Given the description of an element on the screen output the (x, y) to click on. 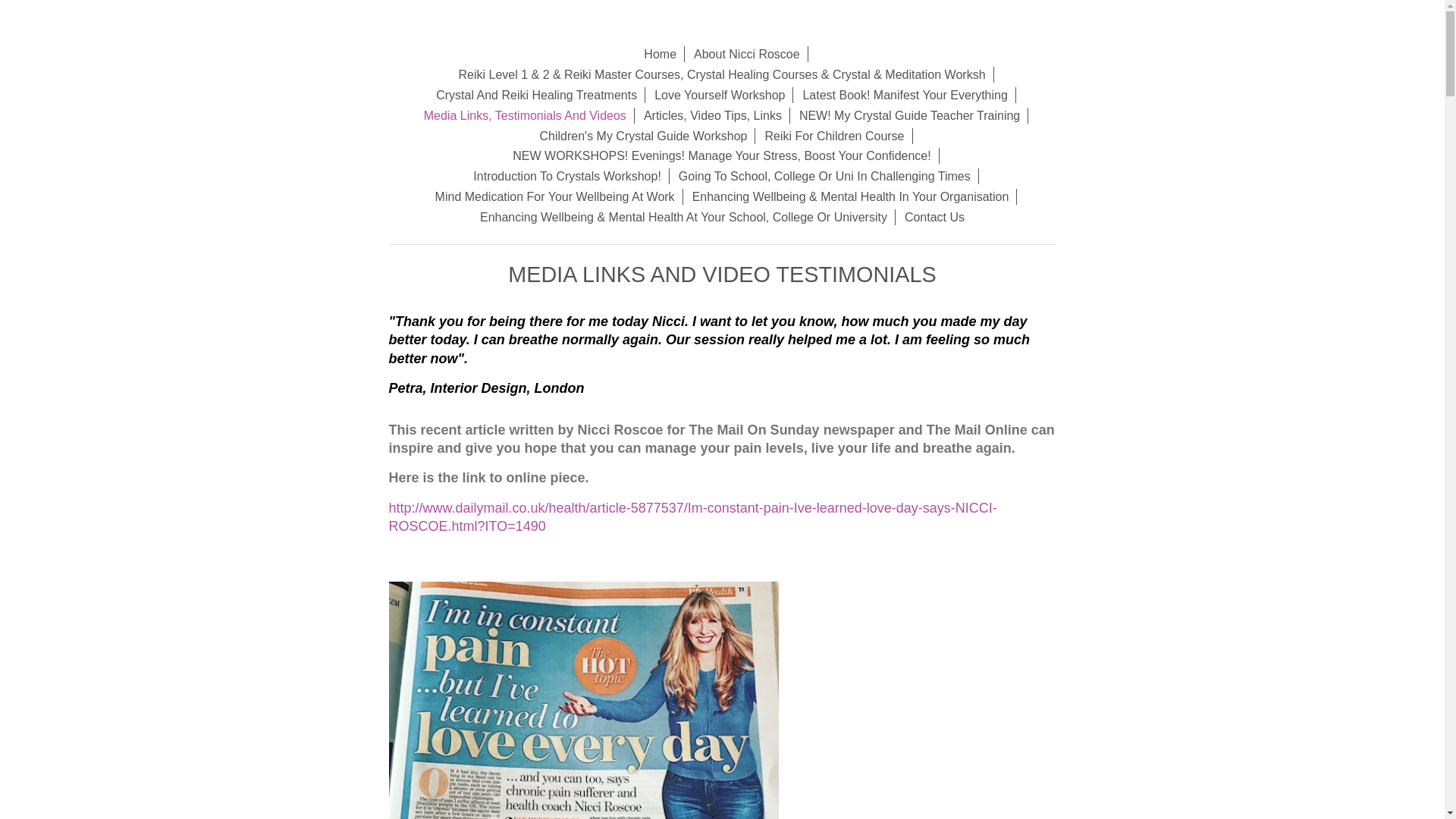
Home (660, 53)
Children's My Crystal Guide Workshop (643, 135)
Latest Book! Manifest Your Everything (904, 94)
Media Links, Testimonials And Videos (525, 115)
Mind Medication For Your Wellbeing At Work (555, 196)
Love Yourself Workshop (719, 94)
Introduction To Crystals Workshop! (567, 176)
NEW! My Crystal Guide Teacher Training (909, 115)
Crystal And Reiki Healing Treatments (536, 94)
Reiki For Children Course (834, 135)
Articles, Video Tips, Links (713, 115)
About Nicci Roscoe (746, 53)
Contact Us (934, 217)
Going To School, College Or Uni In Challenging Times (824, 176)
